Given the description of an element on the screen output the (x, y) to click on. 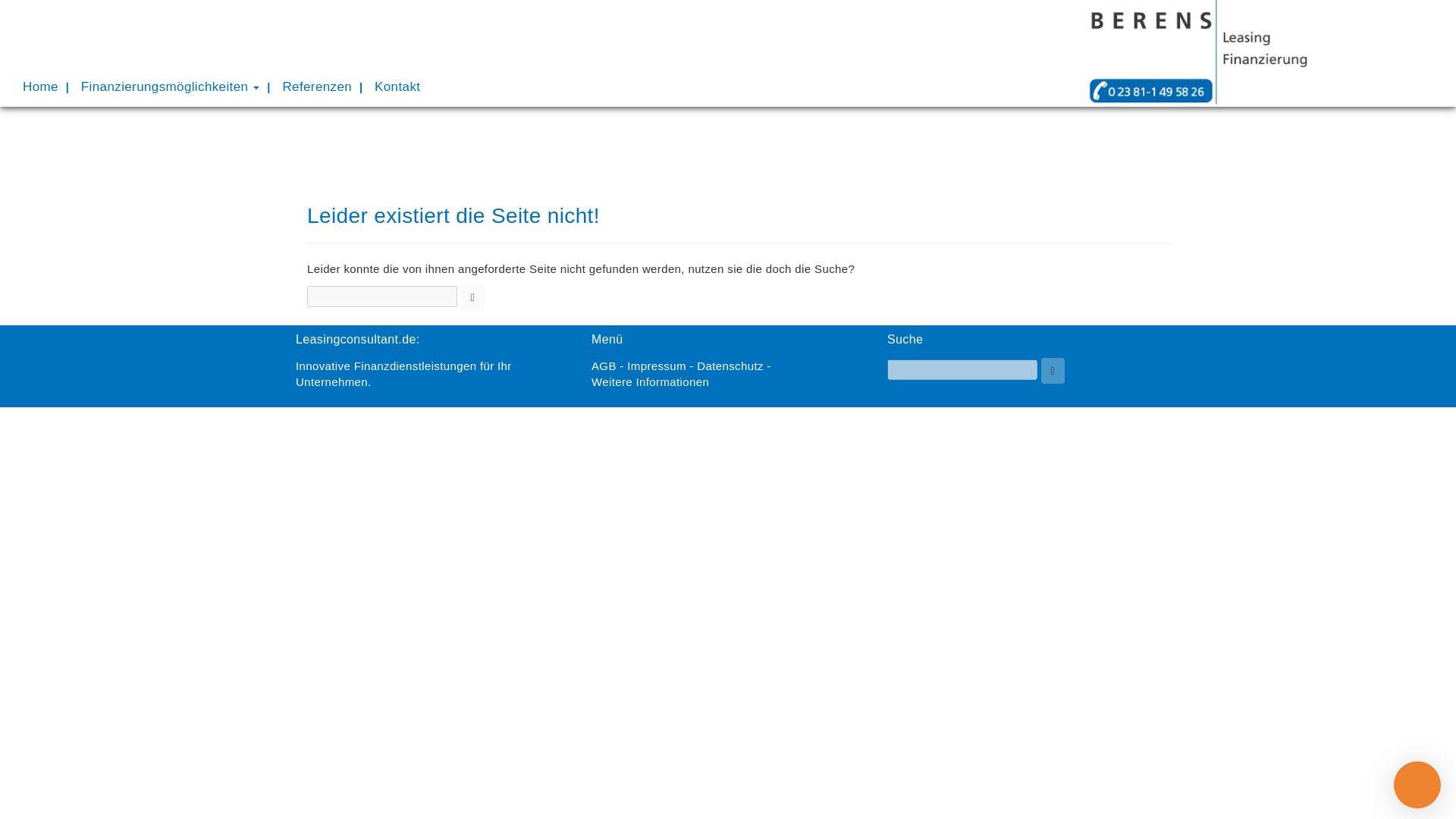
Referenzen (316, 86)
Kontakt (396, 86)
Home (40, 86)
Home (40, 86)
Kontakt (396, 86)
Referenzen (316, 86)
